Given the description of an element on the screen output the (x, y) to click on. 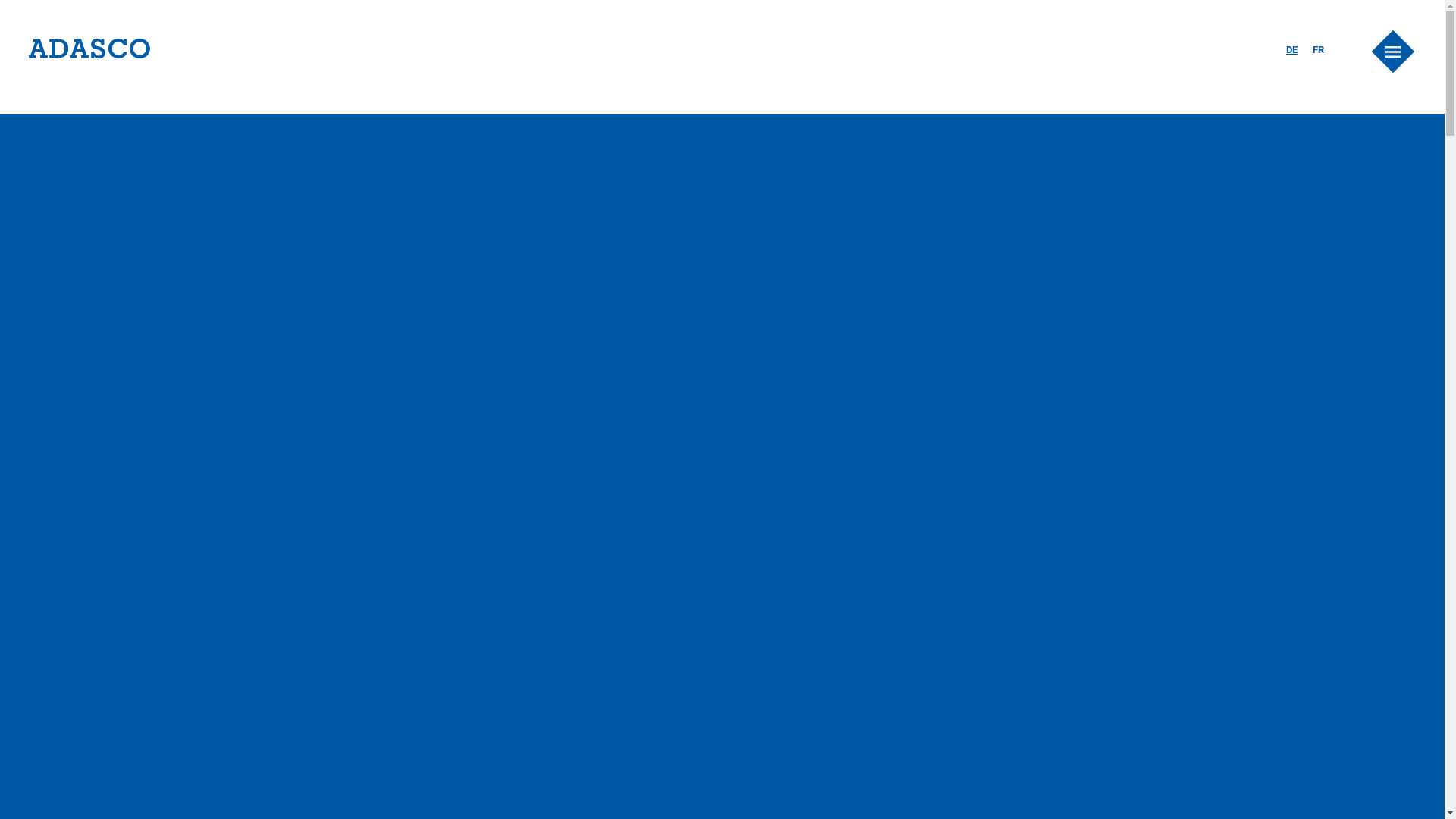
FR Element type: text (1318, 49)
DE Element type: text (1292, 49)
